Given the description of an element on the screen output the (x, y) to click on. 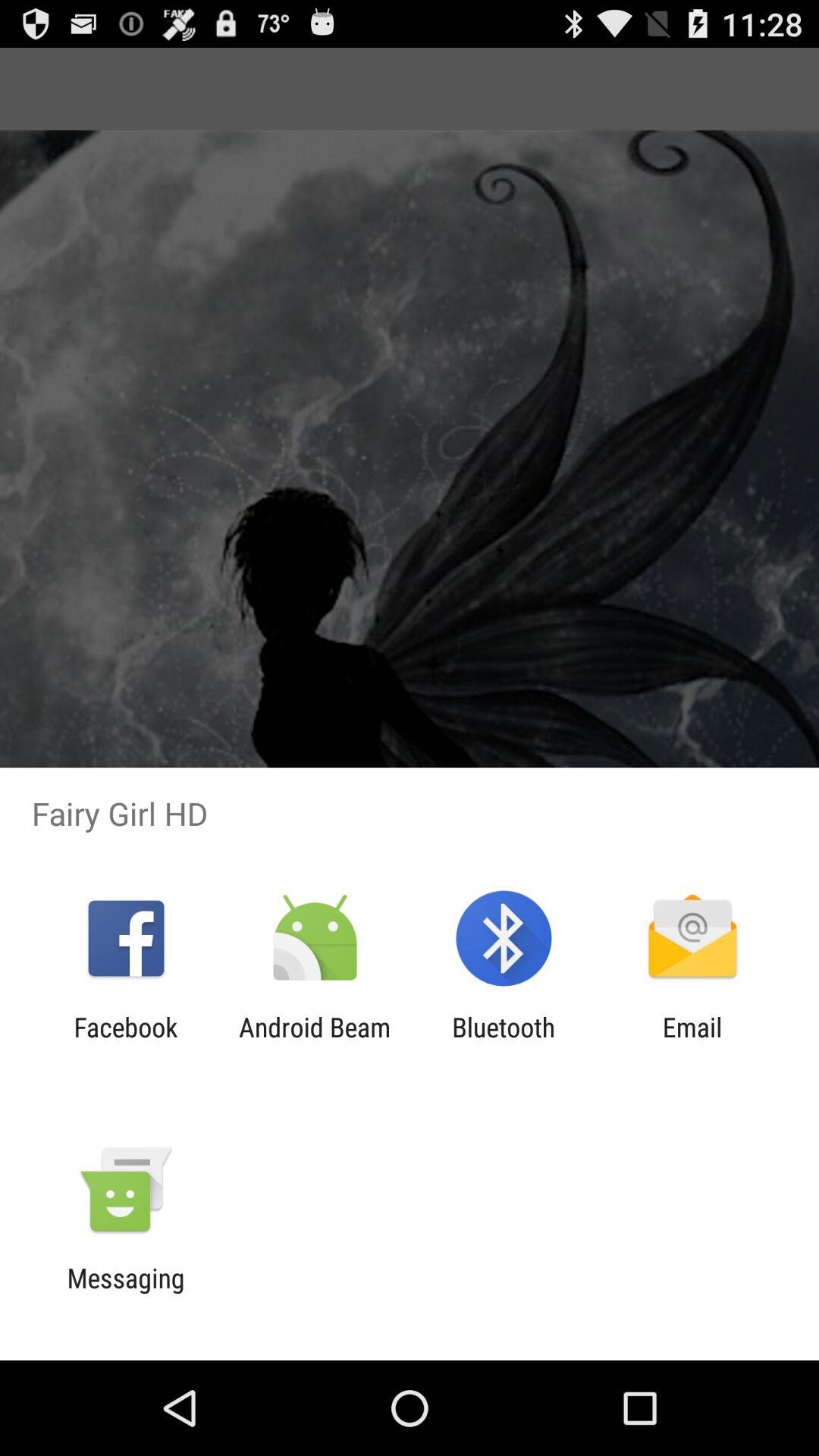
launch app to the left of the email app (503, 1042)
